Given the description of an element on the screen output the (x, y) to click on. 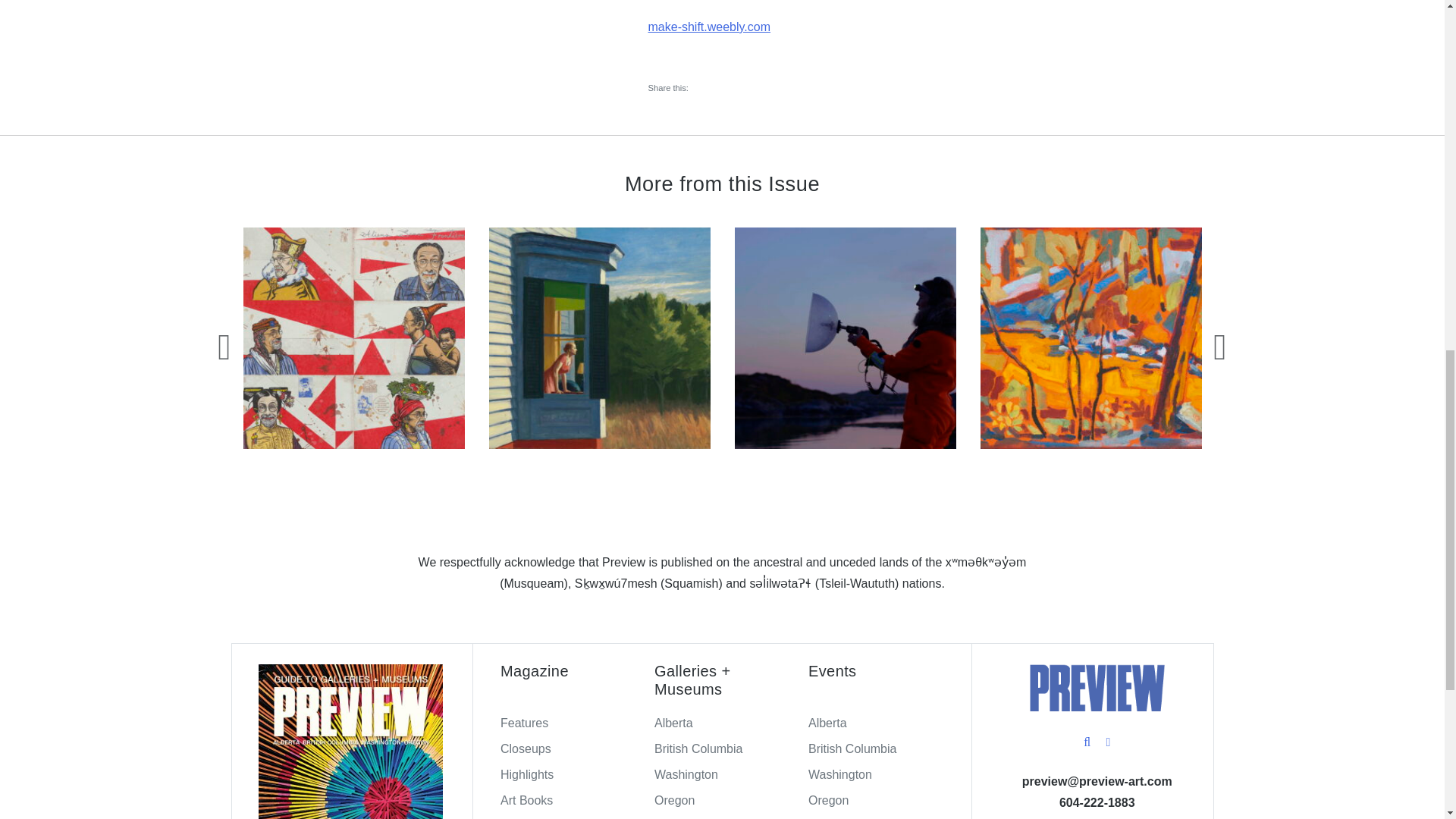
Read Between Bodies (844, 337)
Previous Slide (223, 346)
make-shift.weebly.com (708, 26)
